Given the description of an element on the screen output the (x, y) to click on. 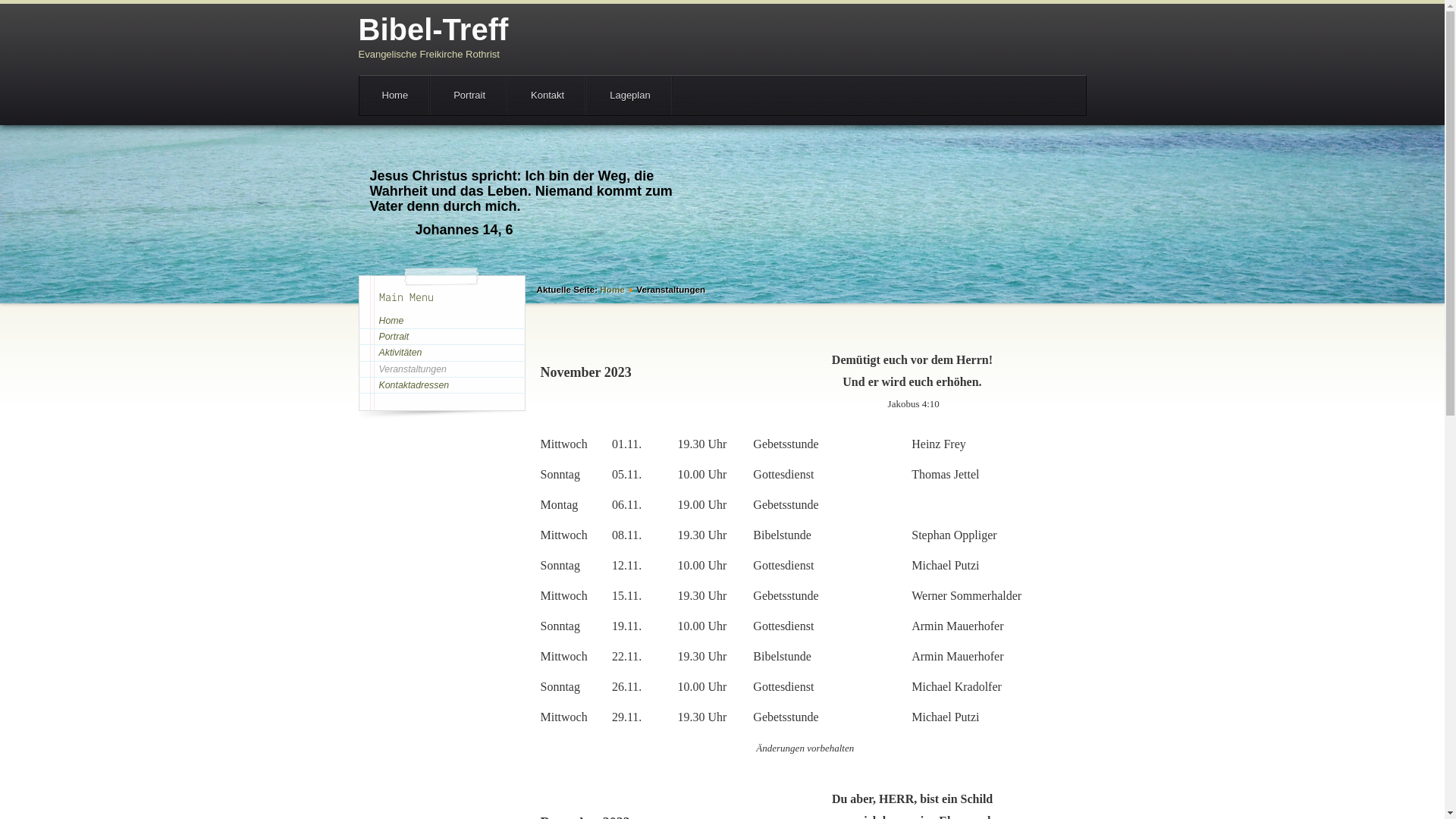
Home Element type: text (441, 320)
Portrait Element type: text (441, 336)
Portrait Element type: text (469, 95)
Bibel-Treff Element type: text (432, 29)
Home Element type: text (395, 95)
Kontaktadressen Element type: text (441, 384)
Home Element type: text (611, 289)
Lageplan Element type: text (629, 95)
Kontakt Element type: text (547, 95)
Veranstaltungen Element type: text (441, 368)
